Given the description of an element on the screen output the (x, y) to click on. 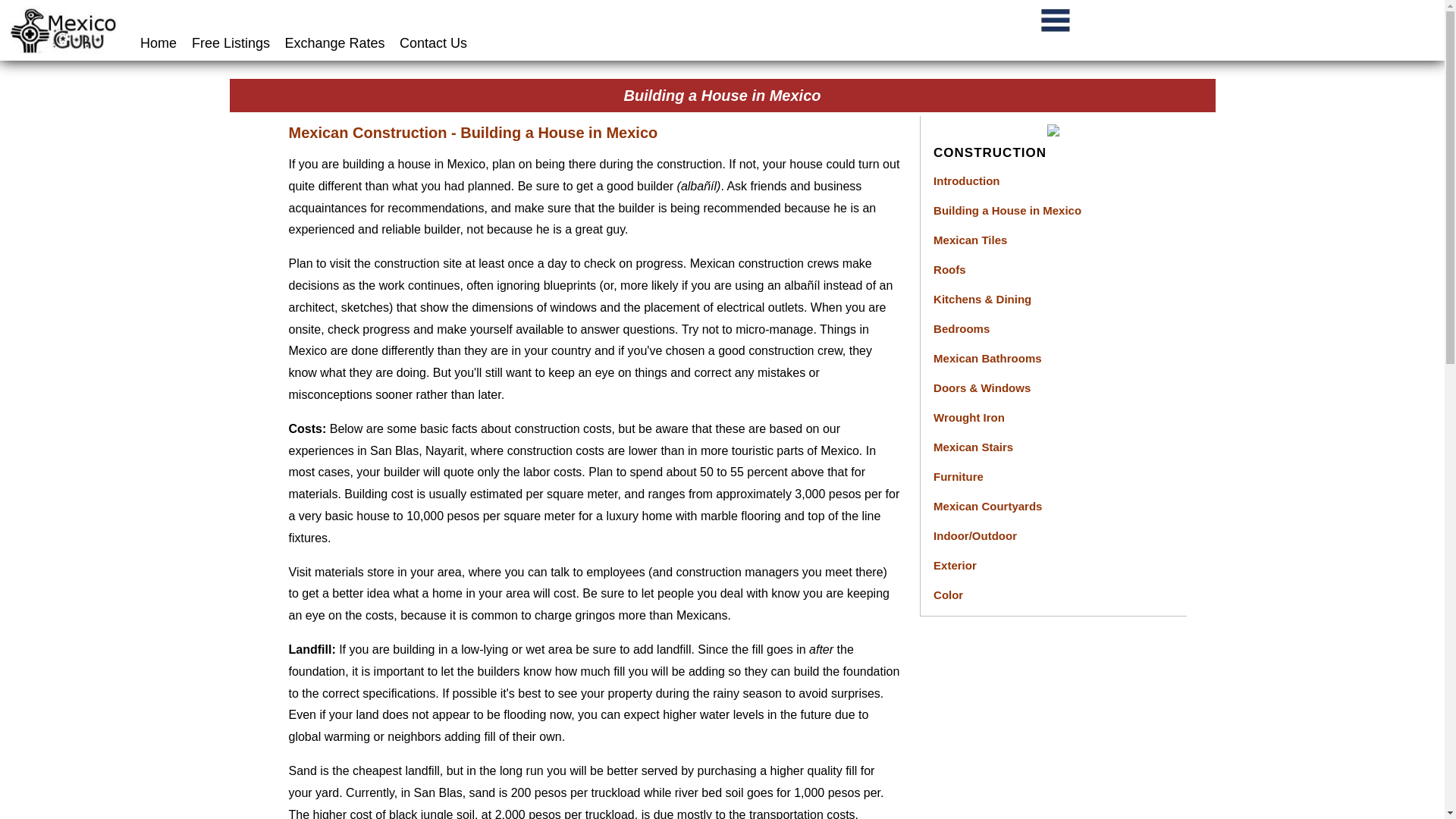
Mexican Stairs (973, 446)
Mexican Bathrooms (987, 358)
Free Listings (224, 43)
Exterior (954, 564)
Color (947, 594)
Contact Us (427, 43)
Building a House in Mexico (1007, 210)
Bedrooms (961, 328)
Introduction (965, 180)
Roofs (949, 269)
Wrought Iron (968, 417)
Furniture (958, 476)
Mexican Courtyards (987, 505)
Exchange Rates (329, 43)
Home (154, 43)
